Given the description of an element on the screen output the (x, y) to click on. 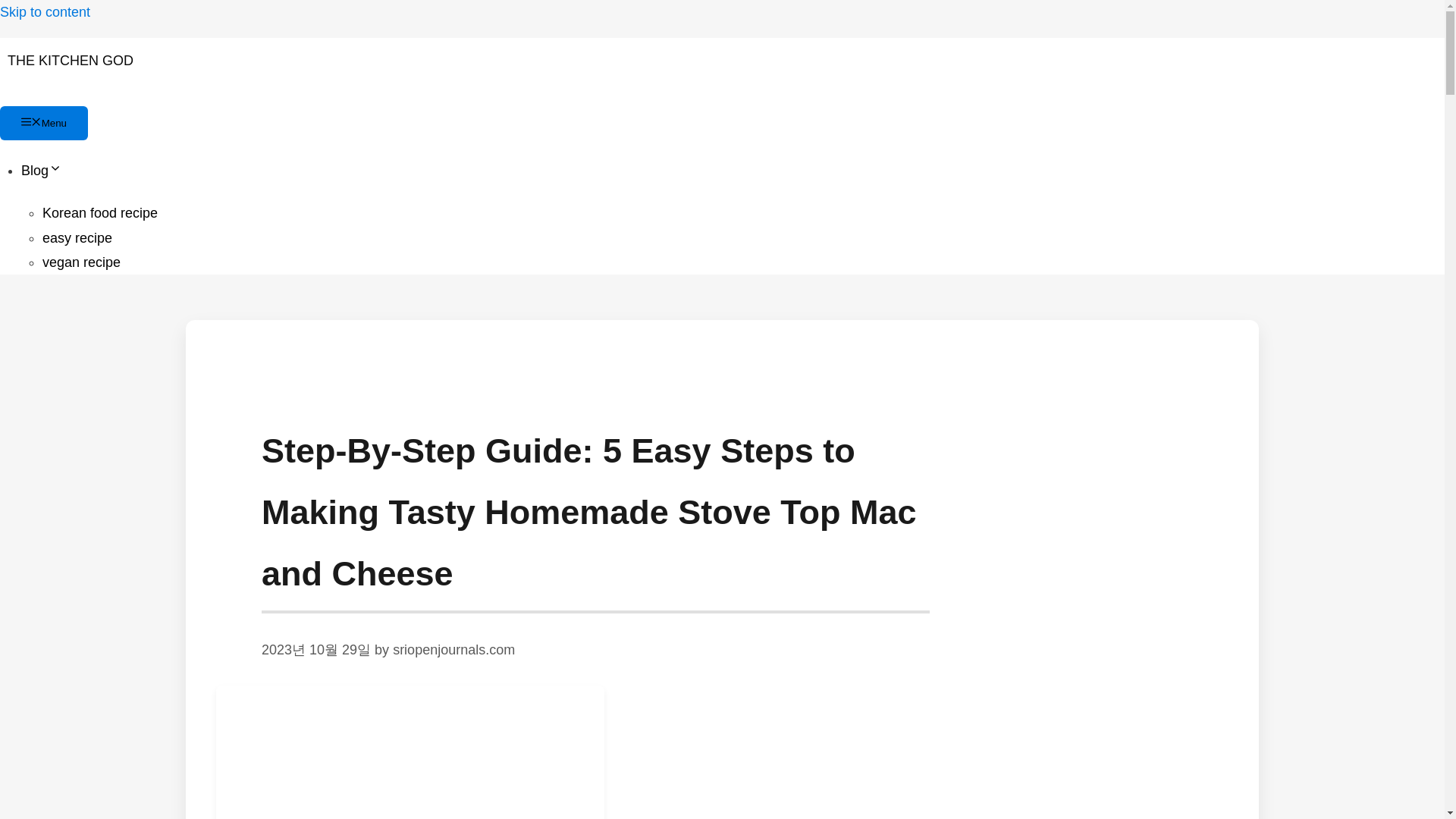
View all posts by sriopenjournals.com (454, 649)
Blog (41, 170)
Skip to content (45, 11)
vegan recipe (81, 262)
sriopenjournals.com (454, 649)
Korean food recipe (99, 212)
easy recipe (77, 237)
THE KITCHEN GOD (70, 60)
Menu (43, 122)
Skip to content (45, 11)
